Given the description of an element on the screen output the (x, y) to click on. 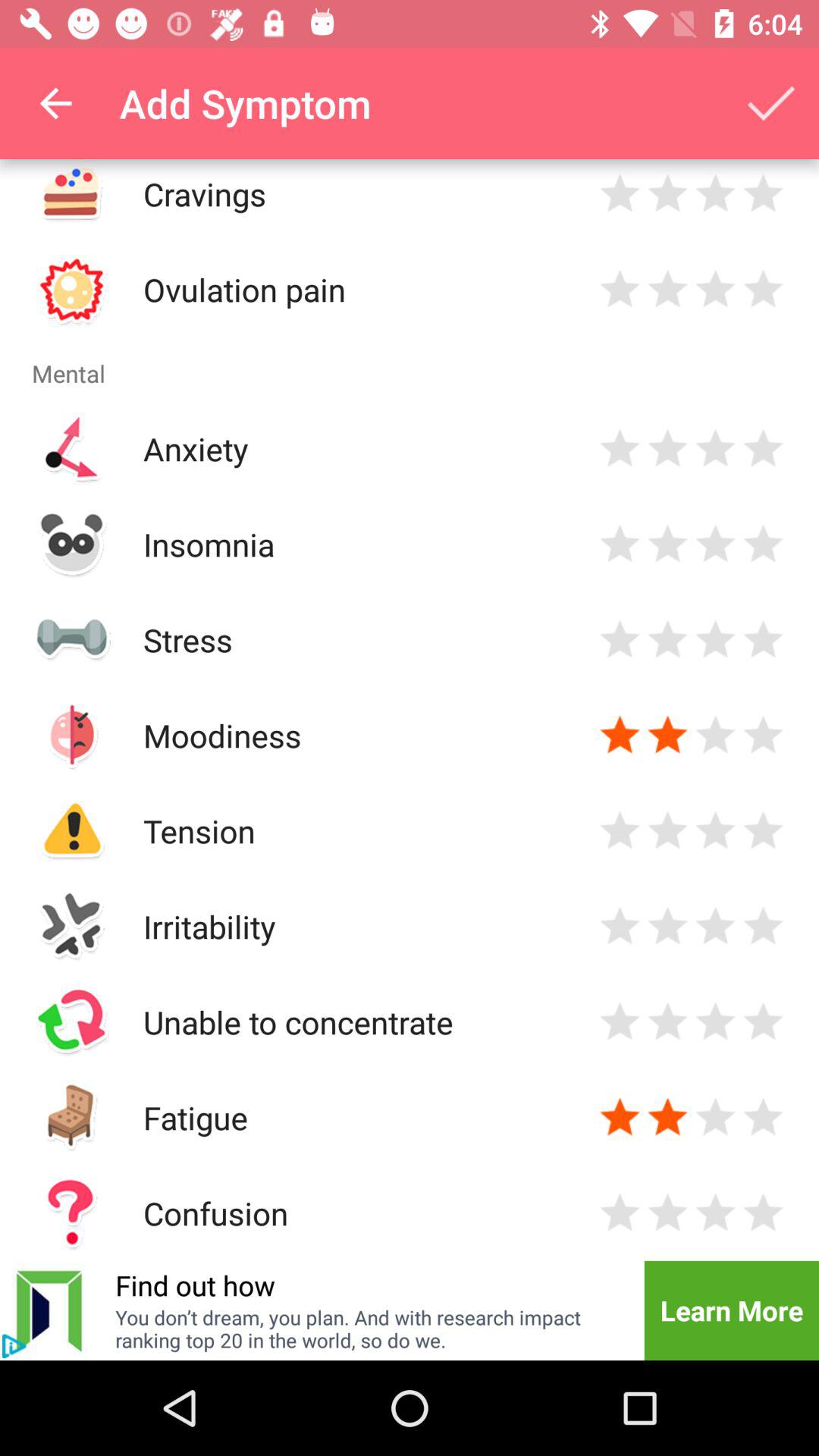
add two stars to unable to concentrate symptom (667, 1021)
